Given the description of an element on the screen output the (x, y) to click on. 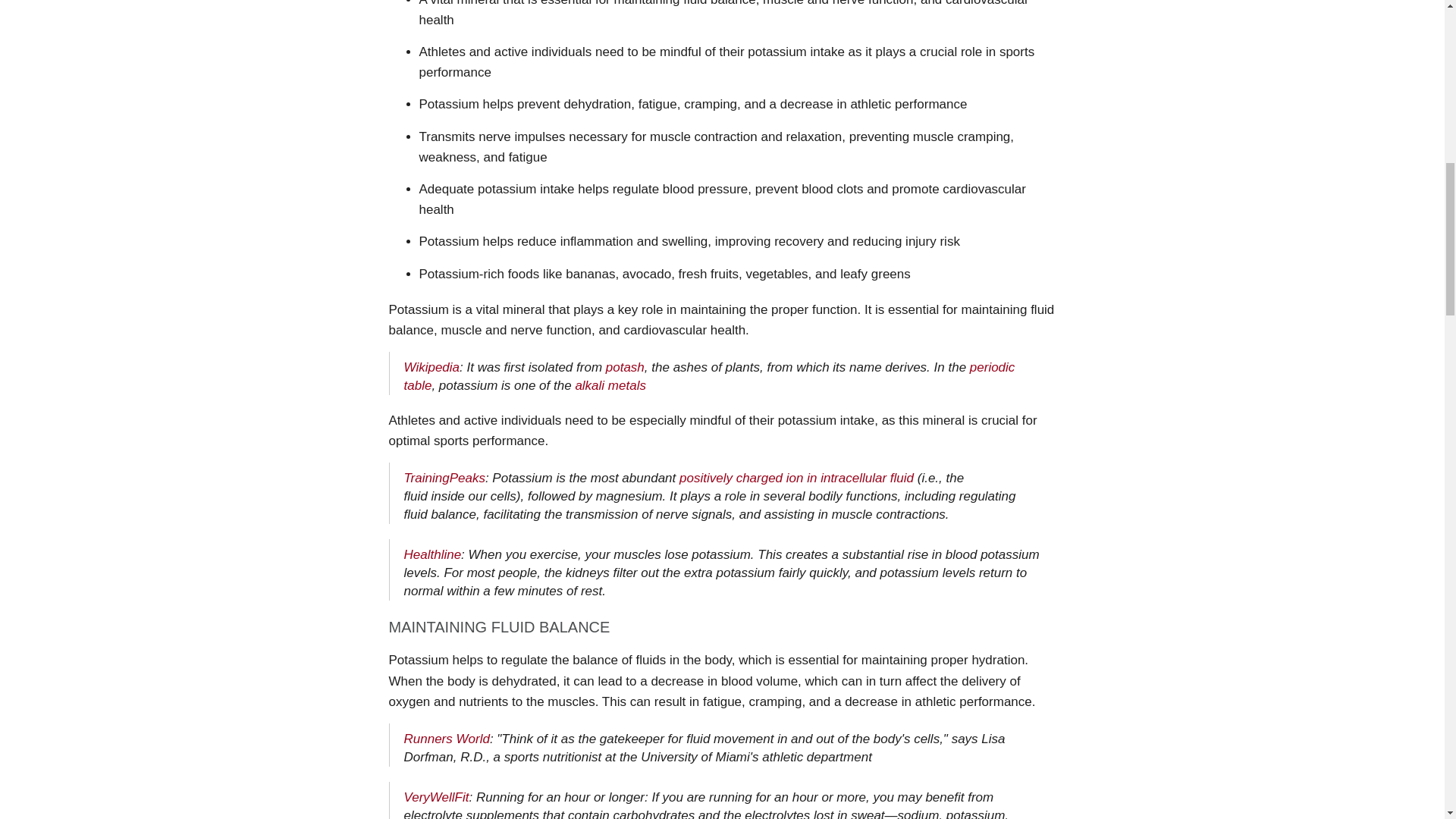
Wikipedia potassium (431, 367)
Potassium for athletes (432, 554)
Running with Potassium (435, 797)
Periodic table (708, 376)
Potash (625, 367)
Potassium through urine and sweat (443, 477)
Alkali metal (610, 385)
Potassium for Runners (446, 739)
